Given the description of an element on the screen output the (x, y) to click on. 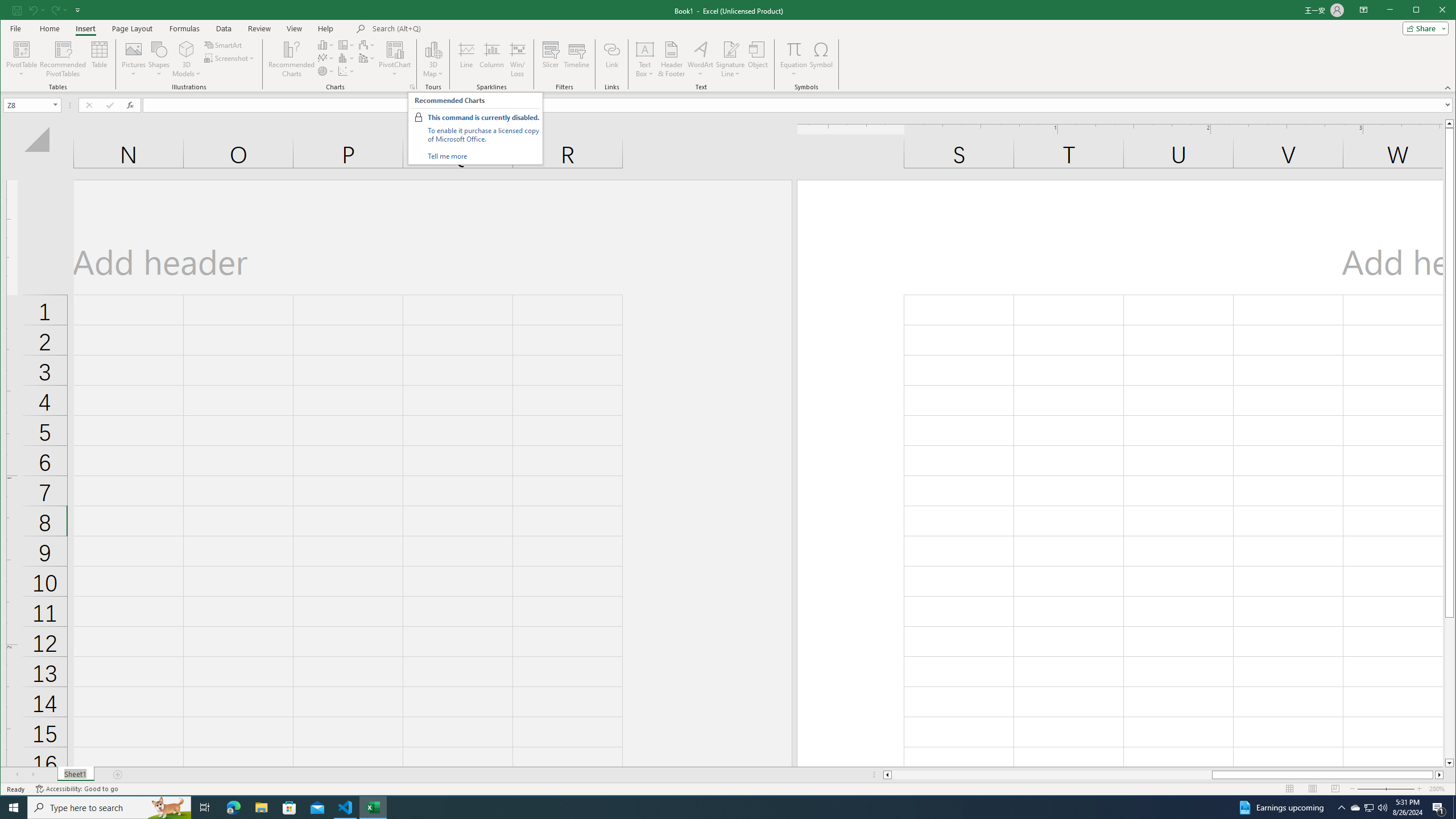
Search highlights icon opens search home window (167, 807)
3D Map (432, 48)
Insert Statistic Chart (346, 57)
Microsoft Edge (233, 807)
Equation (793, 59)
Earnings upcoming (1280, 807)
Link (611, 59)
Insert Waterfall, Funnel, Stock, Surface, or Radar Chart (366, 44)
Text Box (644, 59)
User Promoted Notification Area (1368, 807)
This command is currently disabled. (483, 117)
